Given the description of an element on the screen output the (x, y) to click on. 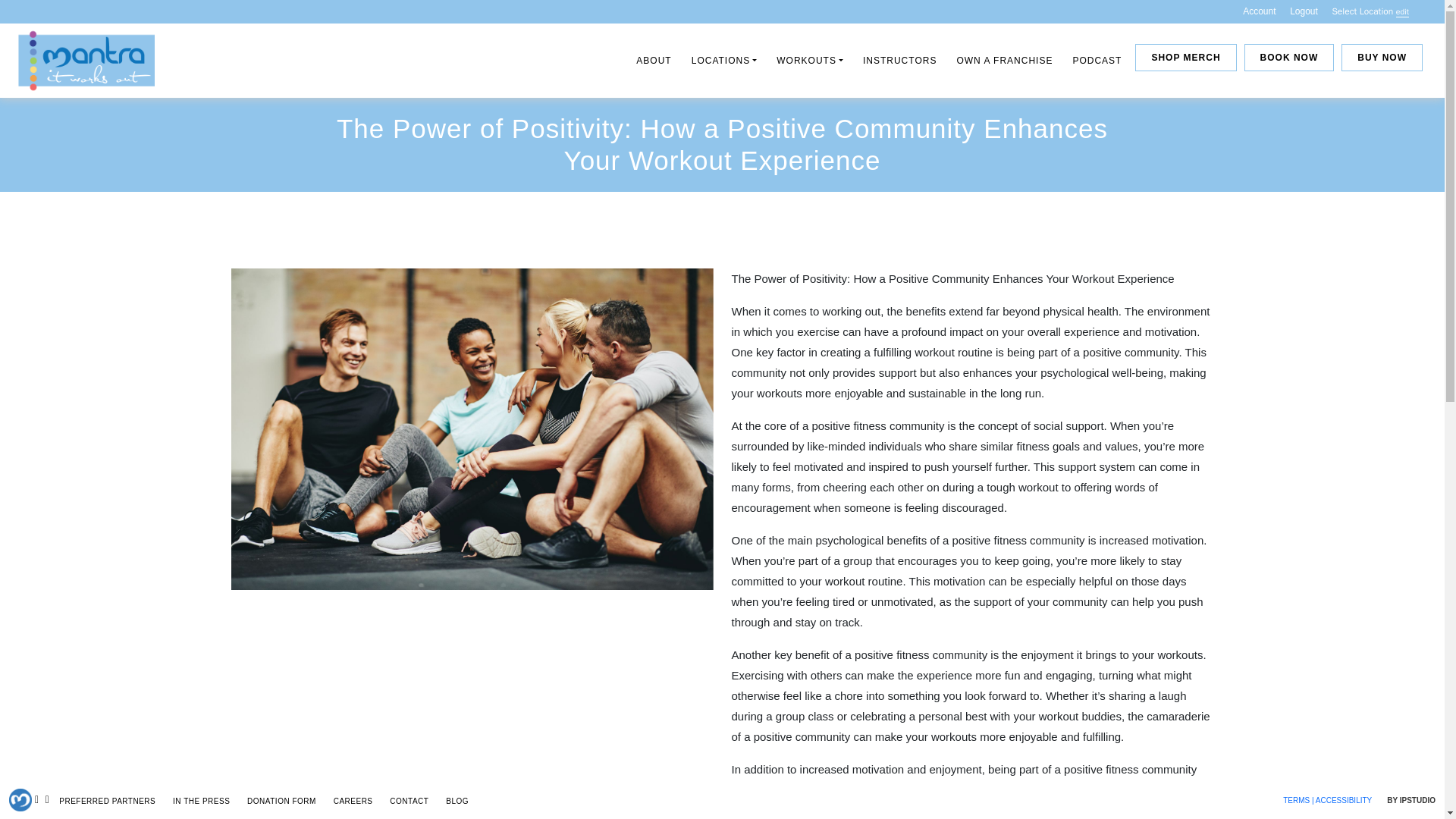
BUY NOW (1381, 57)
INSTRUCTORS (899, 60)
Logout (1303, 10)
Account (1259, 10)
SHOP MERCH (1185, 57)
LOCATIONS (723, 60)
WORKOUTS (809, 60)
BOOK NOW (1289, 57)
OWN A FRANCHISE (1004, 60)
MANTRA FITNESS (62, 103)
PODCAST (1095, 60)
ABOUT (653, 60)
